Given the description of an element on the screen output the (x, y) to click on. 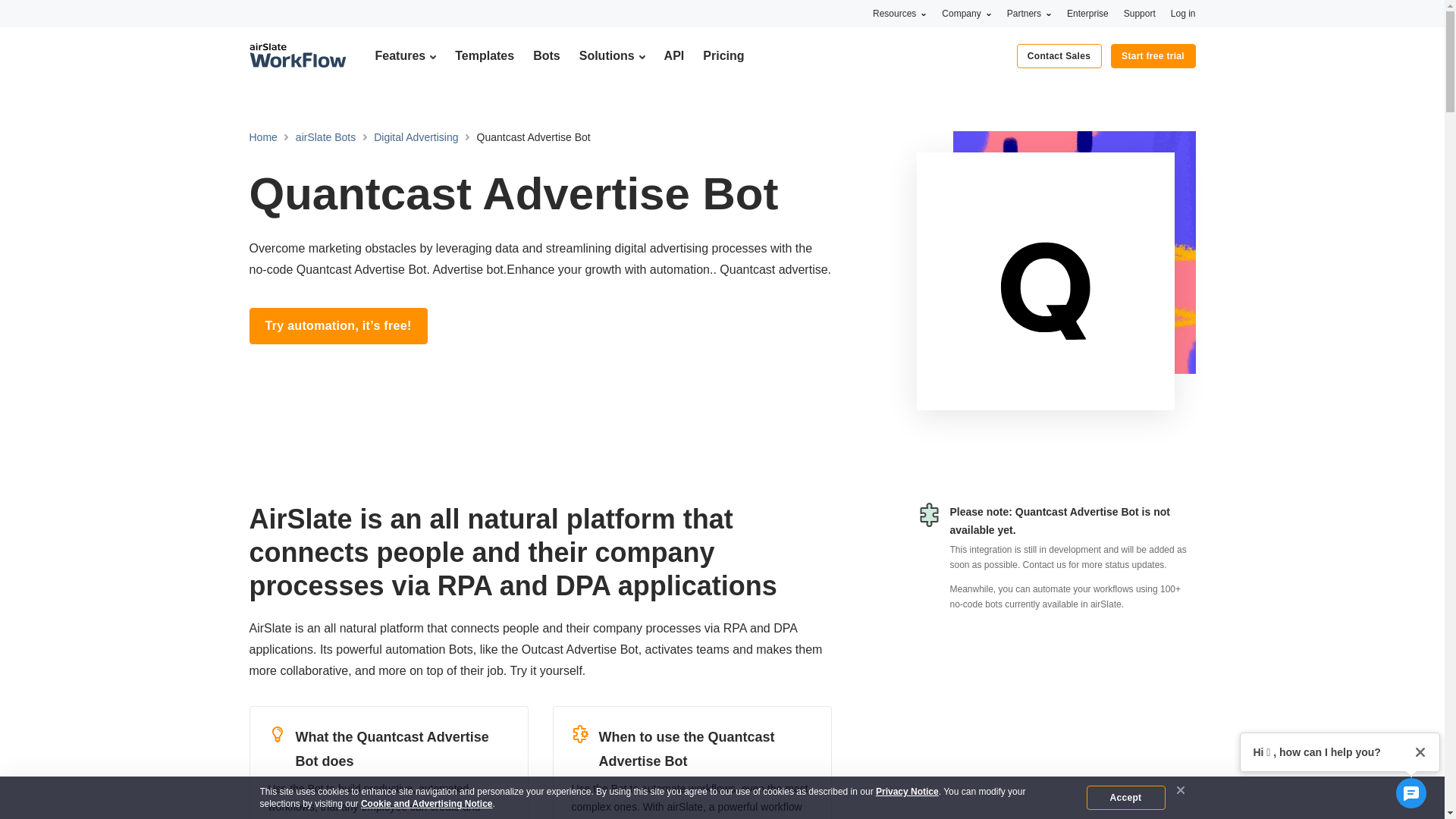
Templates (483, 55)
Company (966, 13)
Partners (1029, 13)
Resources (899, 13)
Support (1140, 13)
Enterprise (1087, 13)
Bots (546, 55)
Log in (1182, 13)
